Given the description of an element on the screen output the (x, y) to click on. 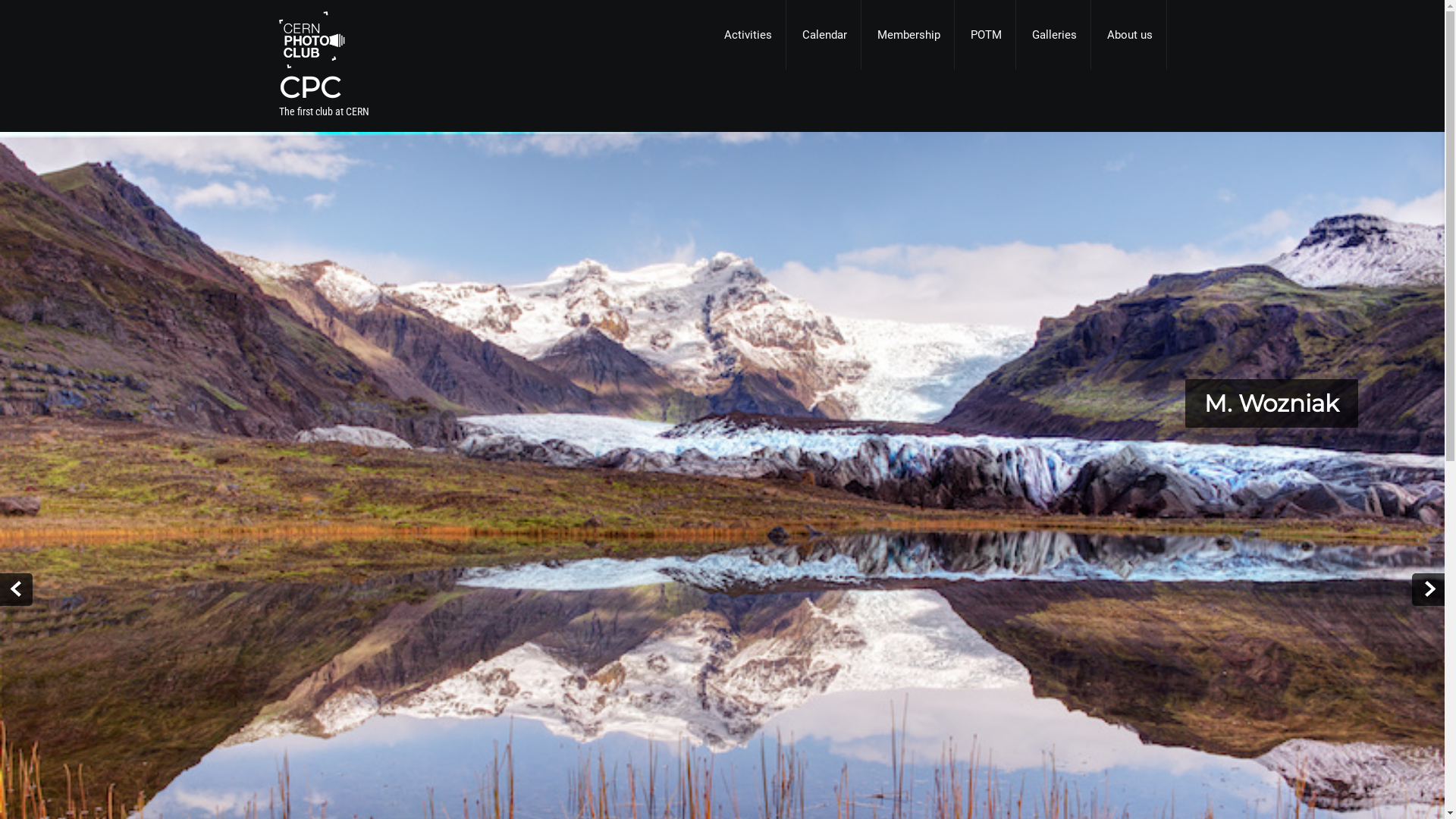
Calendar Element type: text (824, 34)
About us Element type: text (1129, 34)
Activities Element type: text (746, 34)
Membership Element type: text (907, 34)
Galleries Element type: text (1053, 34)
Prev Element type: text (16, 589)
Next Element type: text (1428, 589)
CPC Element type: text (390, 87)
POTM Element type: text (986, 34)
